Given the description of an element on the screen output the (x, y) to click on. 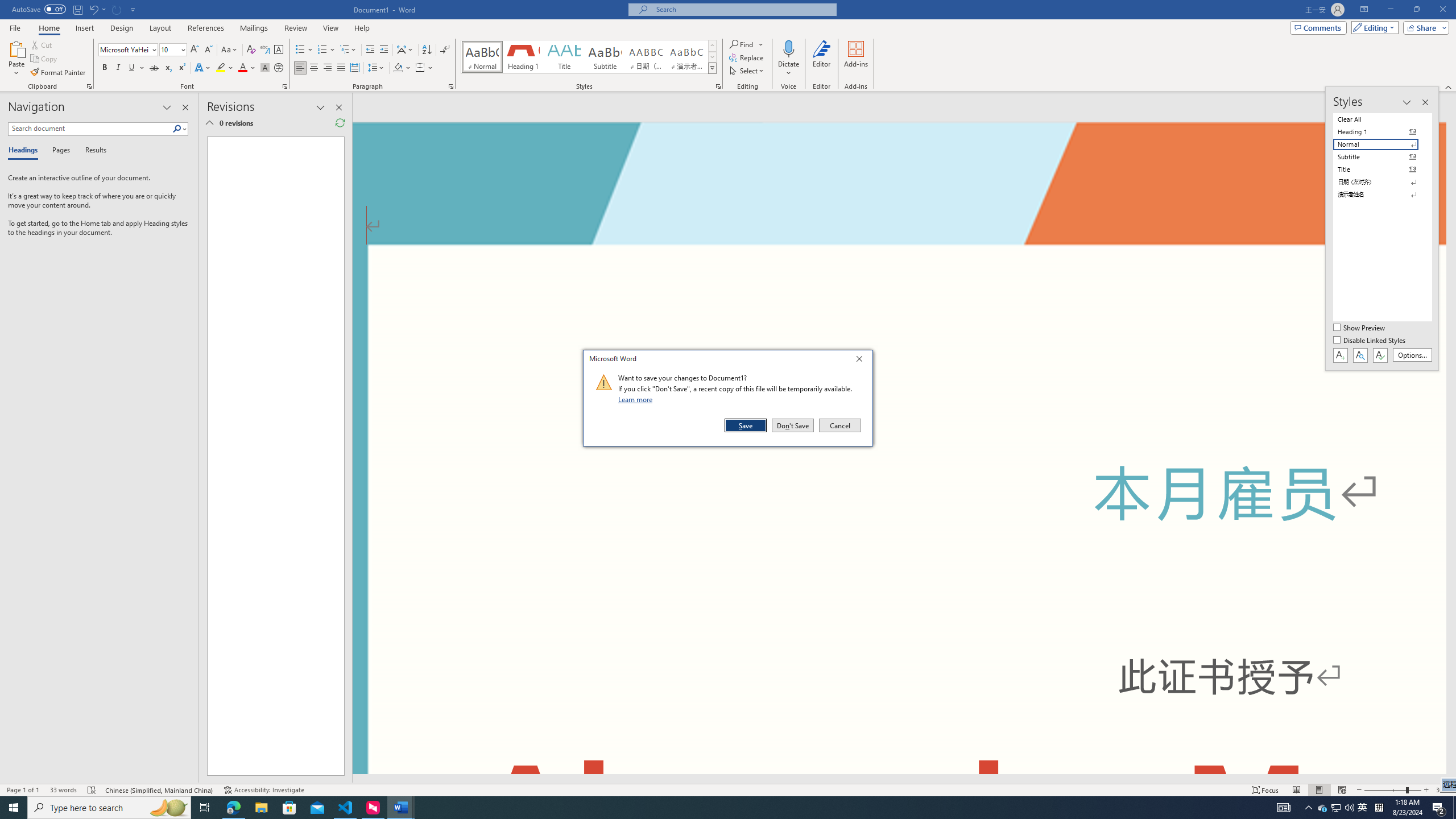
Editor (821, 58)
Character Border (278, 49)
Customize Quick Access Toolbar (133, 9)
Type here to search (108, 807)
Font... (285, 85)
Word - 2 running windows (400, 807)
Line and Paragraph Spacing (376, 67)
Bullets (304, 49)
Collapse the Ribbon (1448, 86)
Headings (25, 150)
Read Mode (1296, 790)
Zoom (1392, 790)
